Given the description of an element on the screen output the (x, y) to click on. 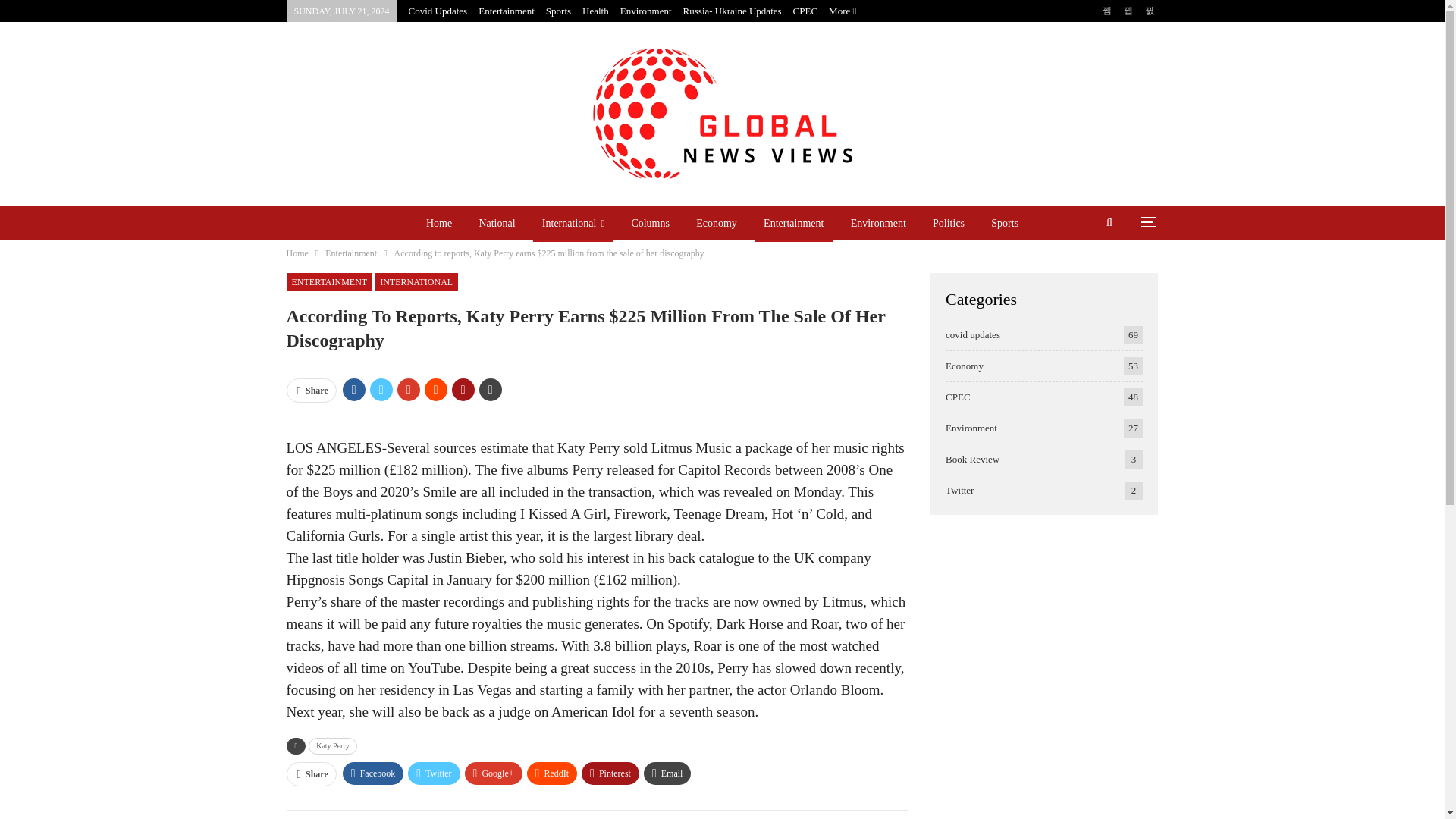
Entertainment (506, 10)
Sports (558, 10)
International (572, 223)
Health (595, 10)
CPEC (805, 10)
National (496, 223)
More (842, 10)
Home (438, 223)
Russia- Ukraine Updates (731, 10)
Covid Updates (438, 10)
Environment (645, 10)
